Given the description of an element on the screen output the (x, y) to click on. 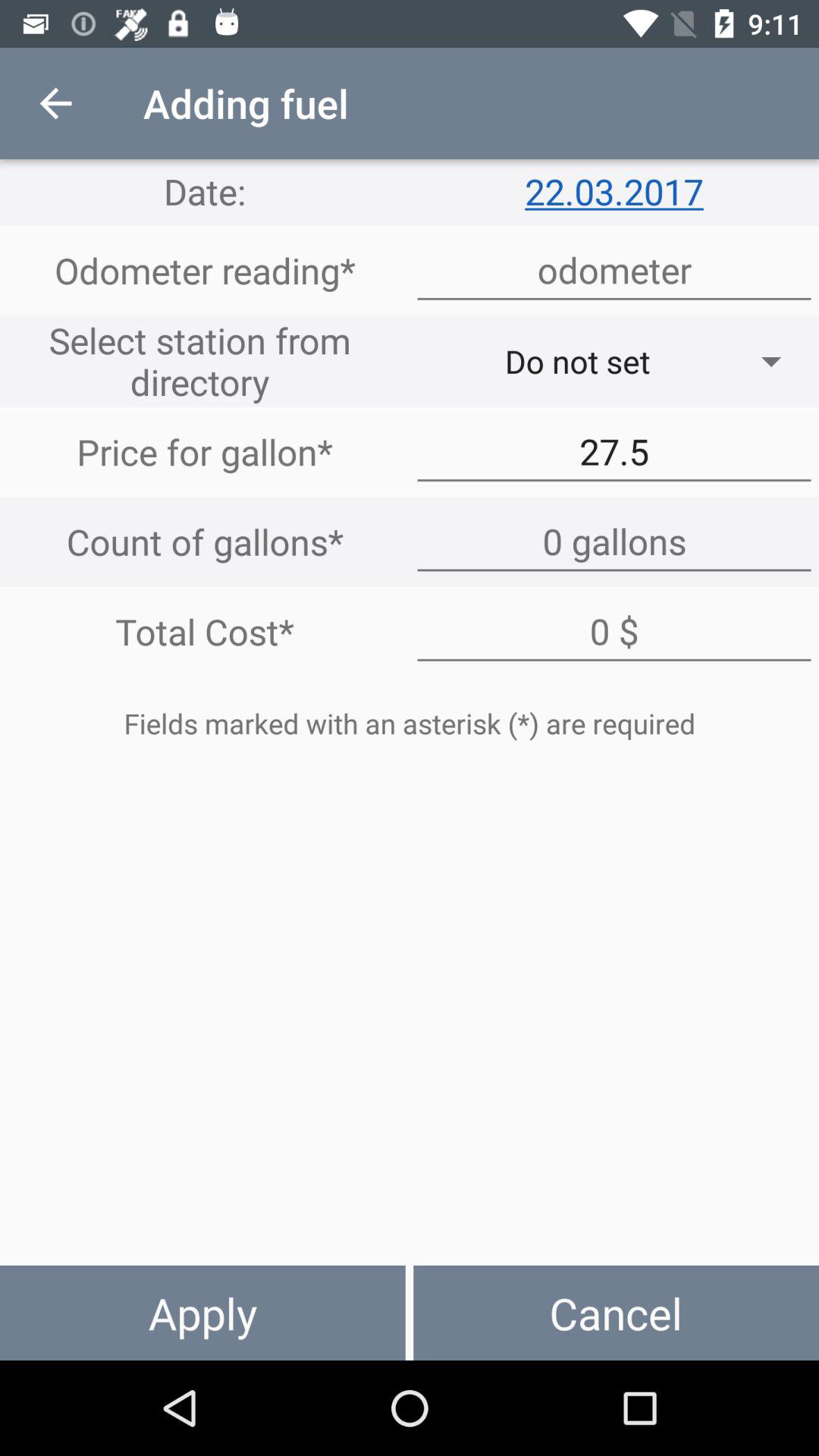
address page (614, 270)
